Given the description of an element on the screen output the (x, y) to click on. 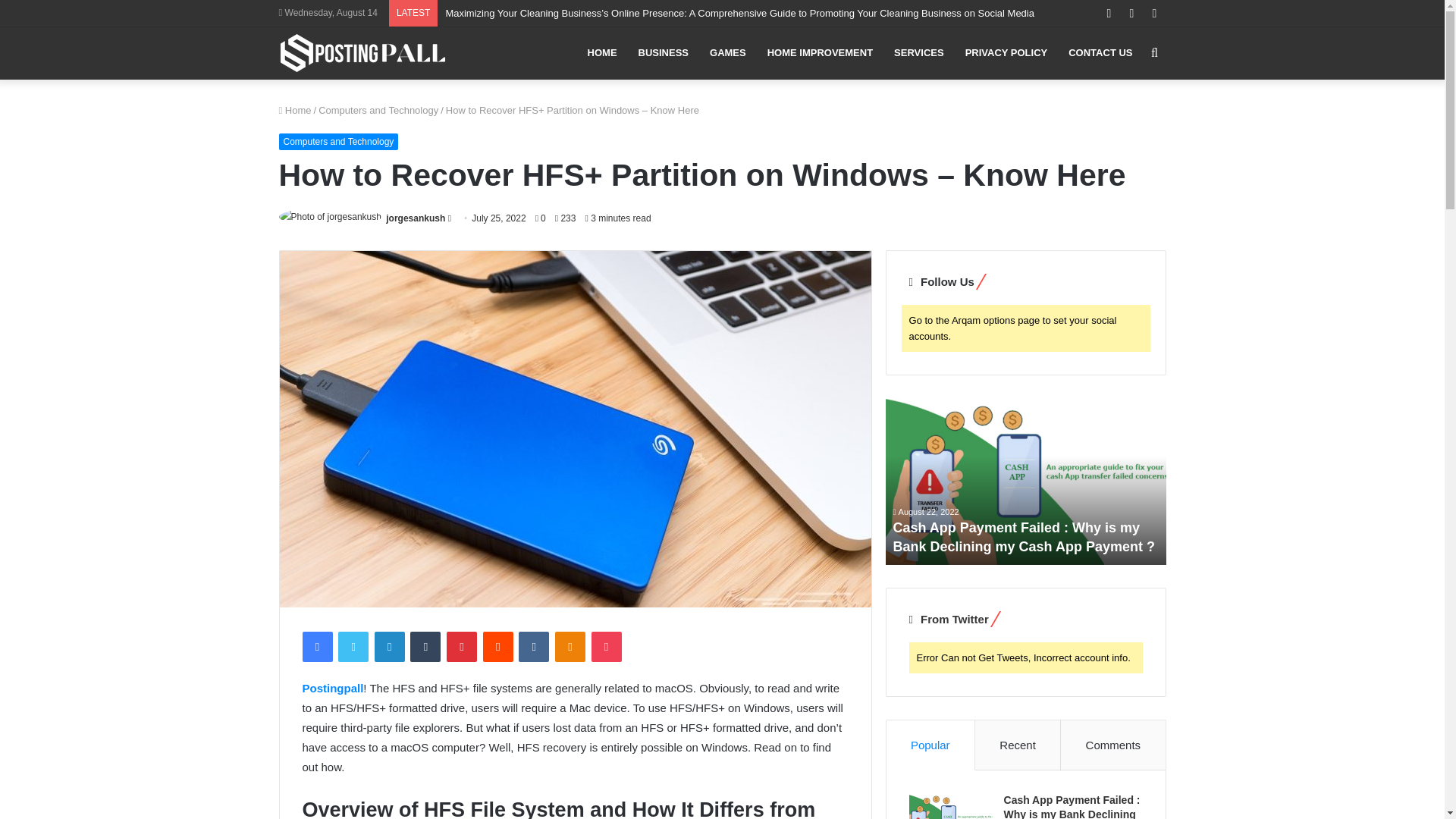
GAMES (727, 52)
Posting Pall (362, 53)
Twitter (352, 646)
Odnoklassniki (569, 646)
Pinterest (461, 646)
Pinterest (461, 646)
Tumblr (425, 646)
Postingpall (331, 687)
PRIVACY POLICY (1006, 52)
Pocket (606, 646)
